Given the description of an element on the screen output the (x, y) to click on. 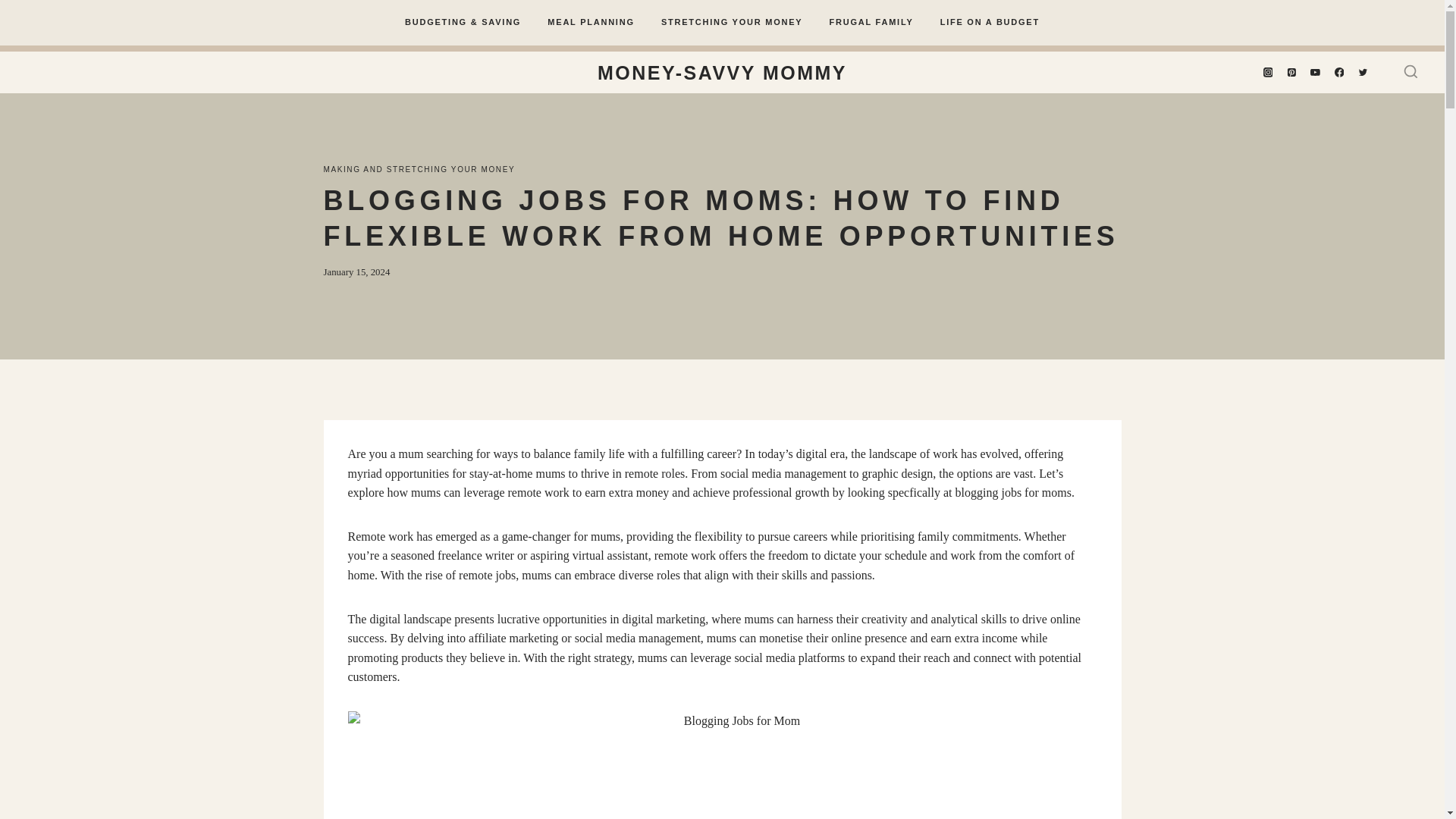
STRETCHING YOUR MONEY (731, 23)
FRUGAL FAMILY (870, 23)
LIFE ON A BUDGET (989, 23)
MONEY-SAVVY MOMMY (721, 71)
MAKING AND STRETCHING YOUR MONEY (419, 169)
MEAL PLANNING (590, 23)
